Given the description of an element on the screen output the (x, y) to click on. 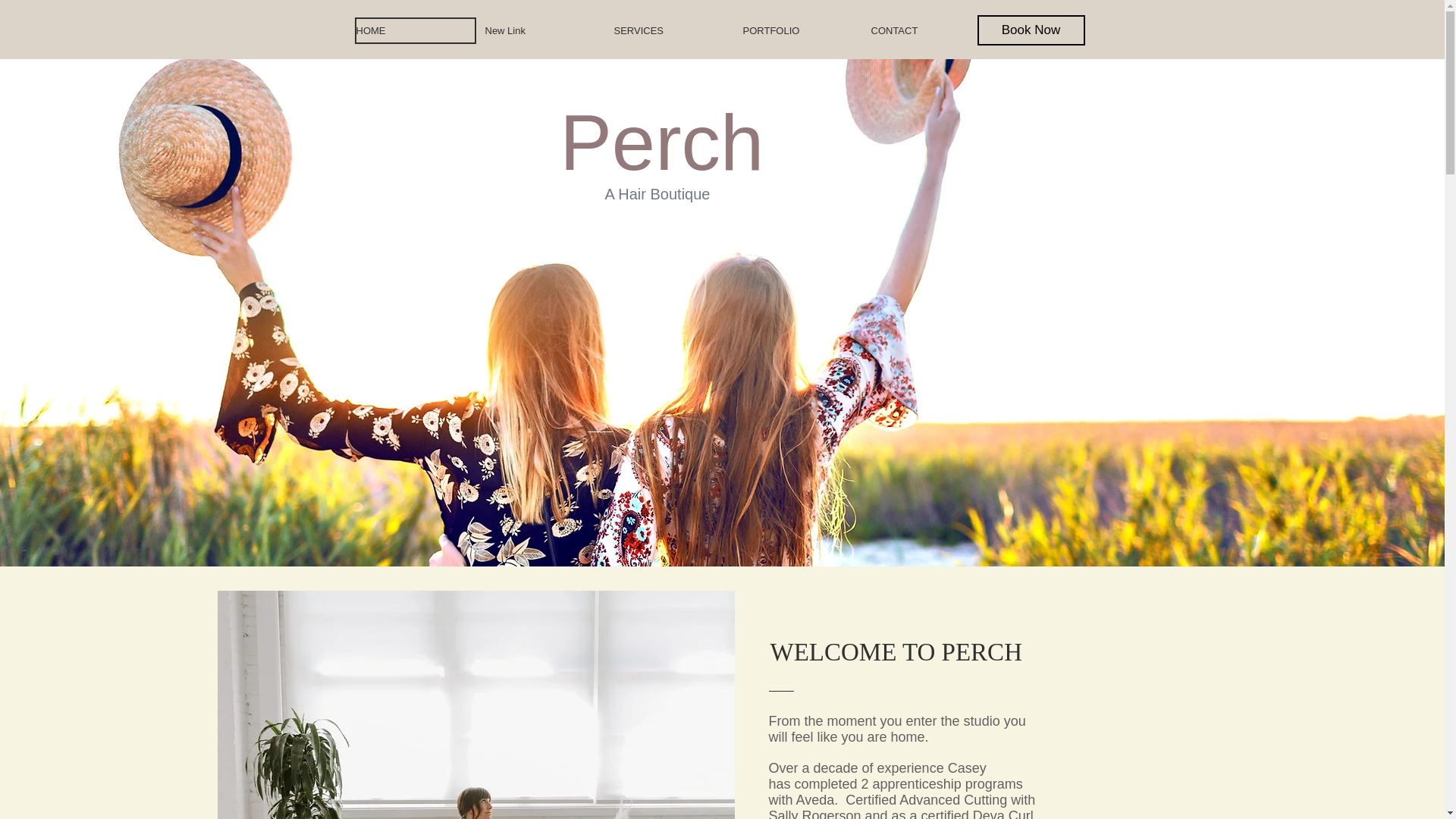
SERVICES (672, 30)
HOME (415, 30)
CONTACT (929, 30)
PORTFOLIO (801, 30)
Book Now (1030, 30)
